Given the description of an element on the screen output the (x, y) to click on. 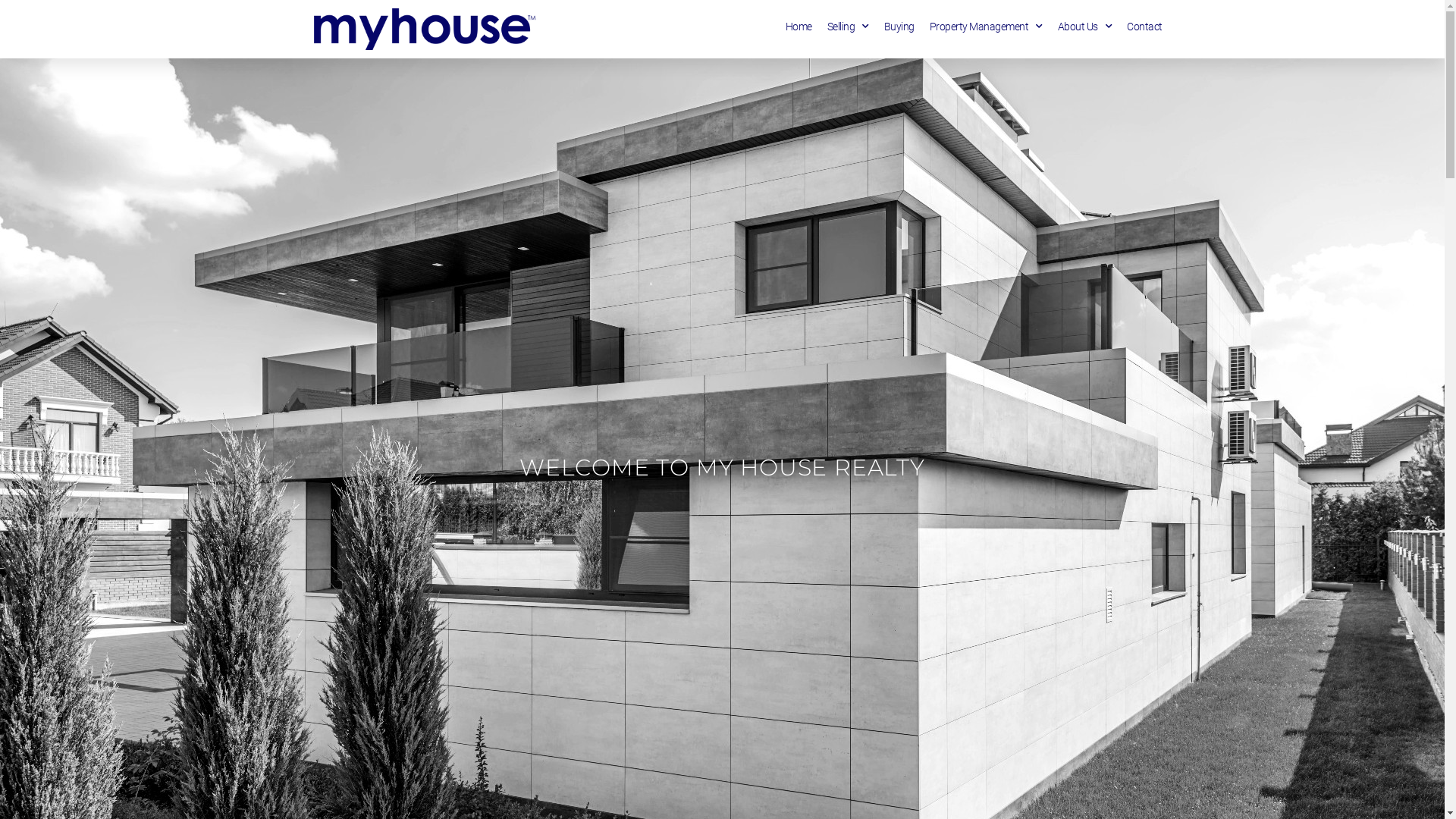
About Us Element type: text (1084, 26)
Contact Element type: text (1144, 26)
Home Element type: text (798, 26)
Selling Element type: text (847, 26)
Buying Element type: text (899, 26)
Property Management Element type: text (985, 26)
